Given the description of an element on the screen output the (x, y) to click on. 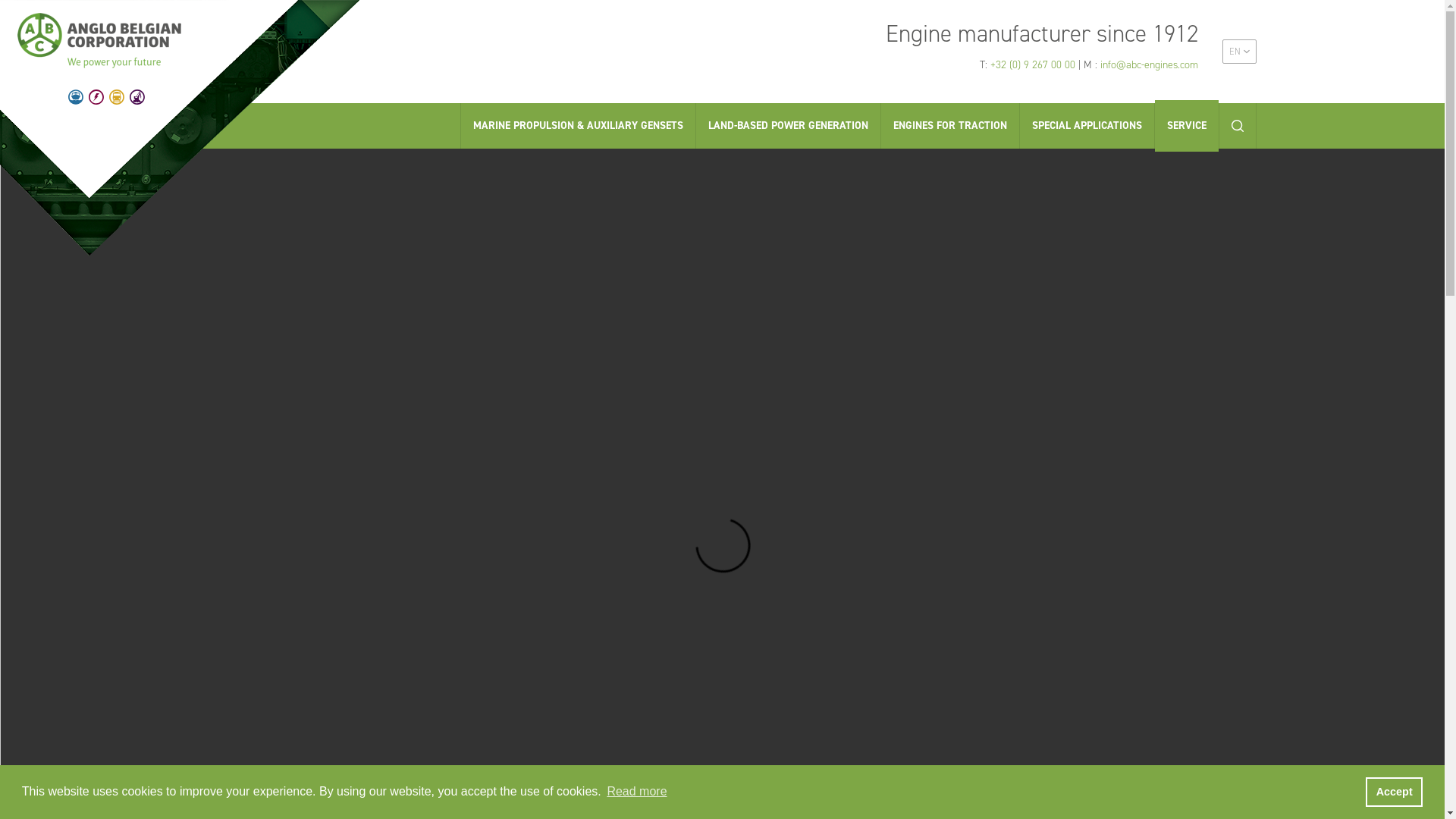
LAND-BASED POWER GENERATION Element type: text (788, 125)
Accept Element type: text (1393, 791)
Read more Element type: text (636, 791)
info@abc-engines.com Element type: text (1148, 64)
EN Element type: text (1239, 51)
SERVICE Element type: text (1185, 125)
+32 (0) 9 267 00 00 Element type: text (1032, 64)
ENGINES FOR TRACTION Element type: text (950, 125)
SPECIAL APPLICATIONS Element type: text (1086, 125)
MARINE PROPULSION & AUXILIARY GENSETS Element type: text (578, 125)
Search Element type: hover (1237, 125)
